Given the description of an element on the screen output the (x, y) to click on. 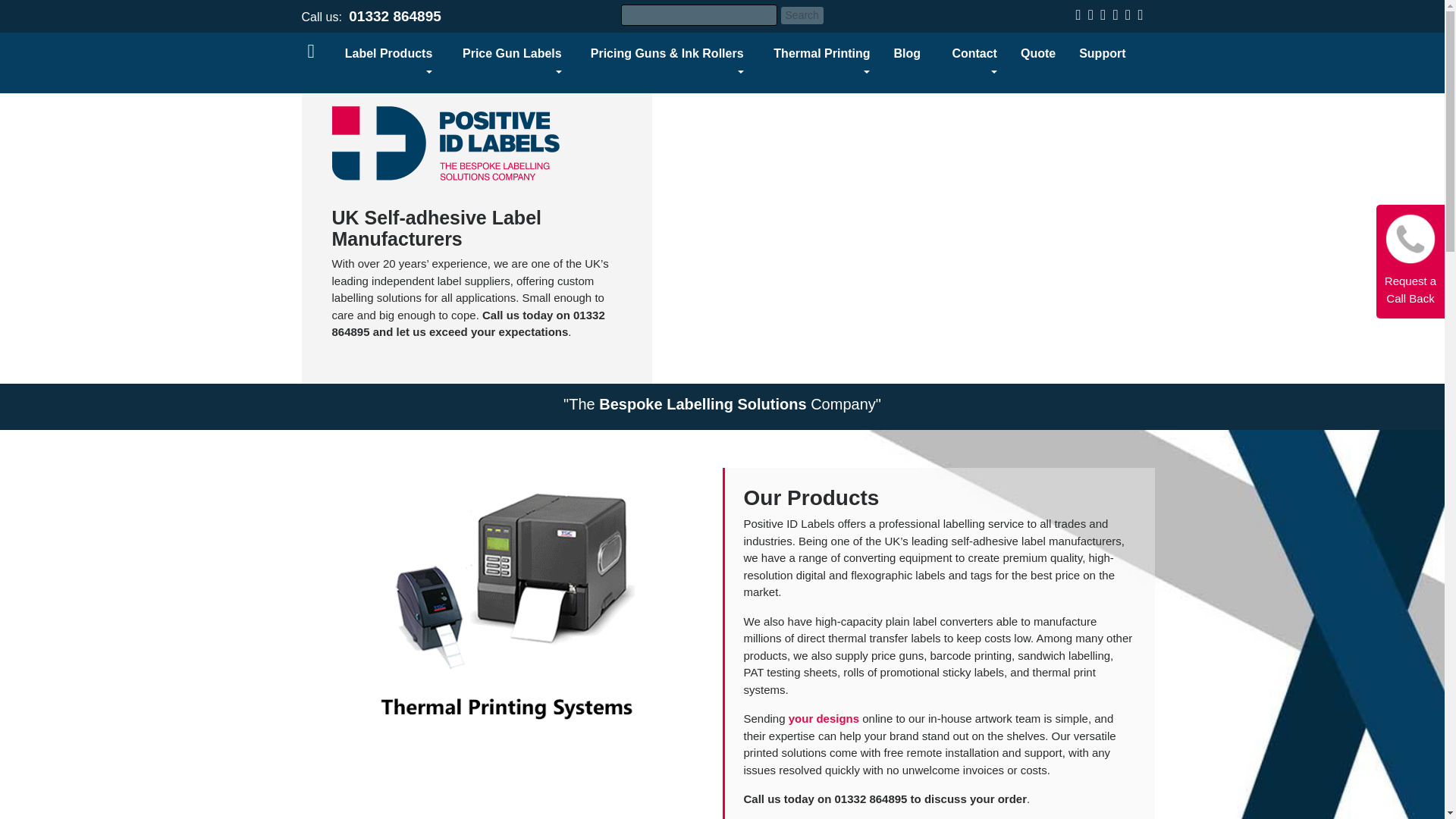
Label Products (385, 61)
Search (802, 15)
01332 864895 (395, 16)
Search (802, 15)
